Given the description of an element on the screen output the (x, y) to click on. 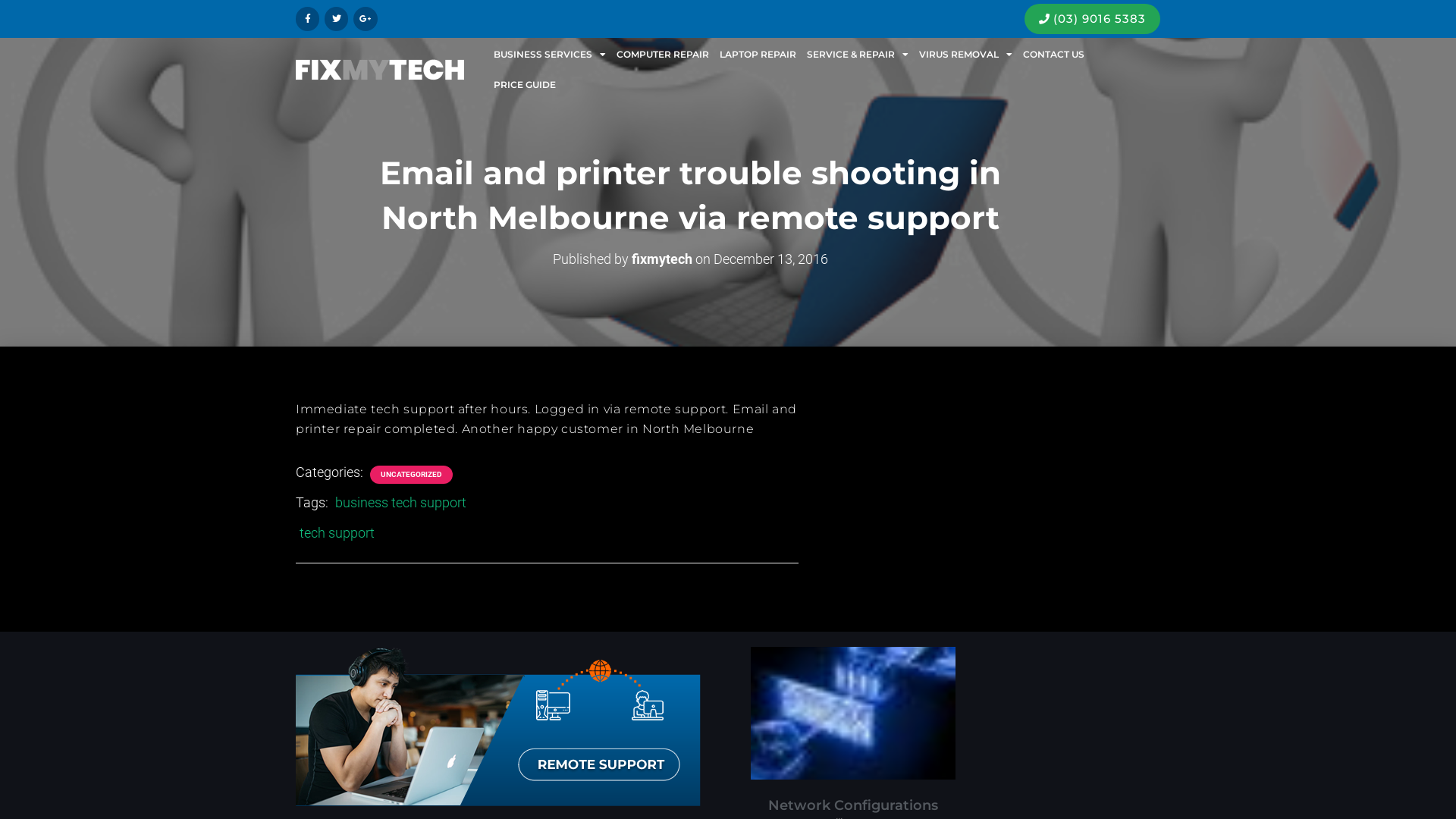
CONTACT US Element type: text (1053, 54)
(03) 9016 5383 Element type: text (1099, 18)
Network Configurations Element type: text (853, 805)
fixmytech Element type: text (661, 258)
business tech support Element type: text (400, 502)
VIRUS REMOVAL Element type: text (965, 54)
COMPUTER REPAIR Element type: text (662, 54)
tech support Element type: text (336, 532)
SERVICE & REPAIR Element type: text (857, 54)
LAPTOP REPAIR Element type: text (757, 54)
UNCATEGORIZED Element type: text (411, 474)
PRICE GUIDE Element type: text (524, 84)
BUSINESS SERVICES Element type: text (549, 54)
